Given the description of an element on the screen output the (x, y) to click on. 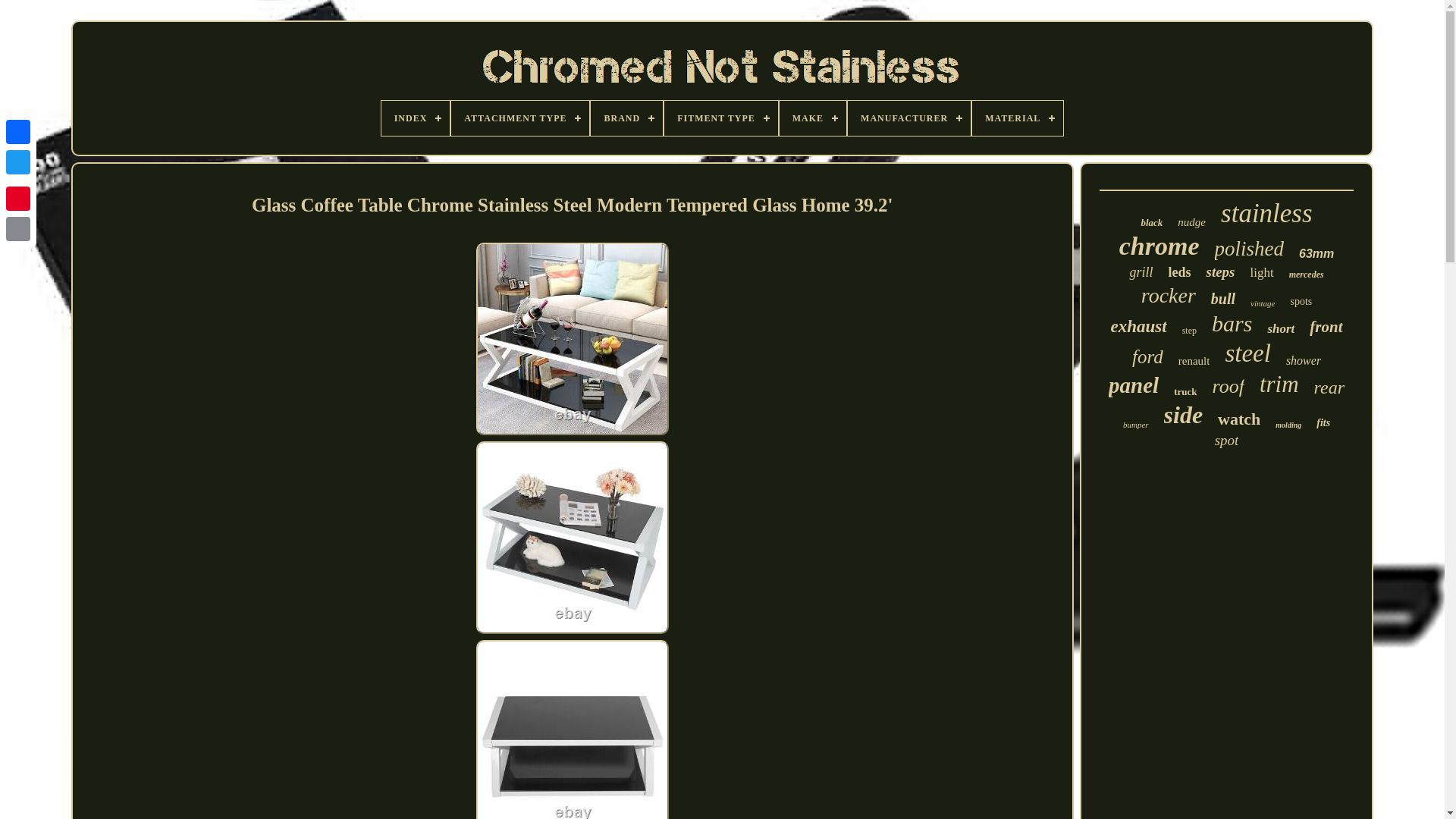
INDEX (415, 117)
BRAND (626, 117)
ATTACHMENT TYPE (520, 117)
FITMENT TYPE (720, 117)
